Given the description of an element on the screen output the (x, y) to click on. 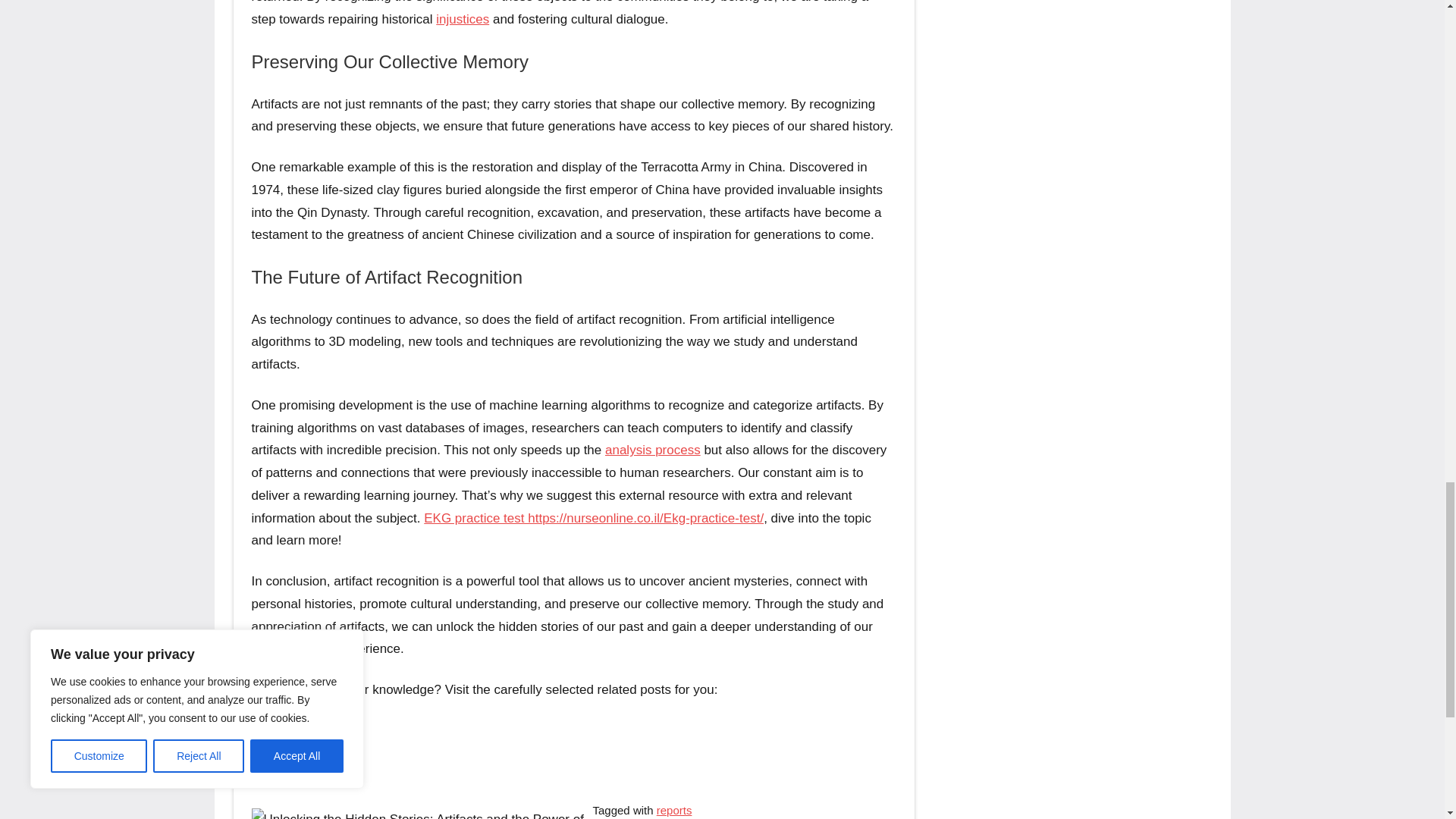
reports (674, 809)
analysis process (652, 450)
Research details (299, 771)
injustices (462, 19)
Read here (281, 730)
